Given the description of an element on the screen output the (x, y) to click on. 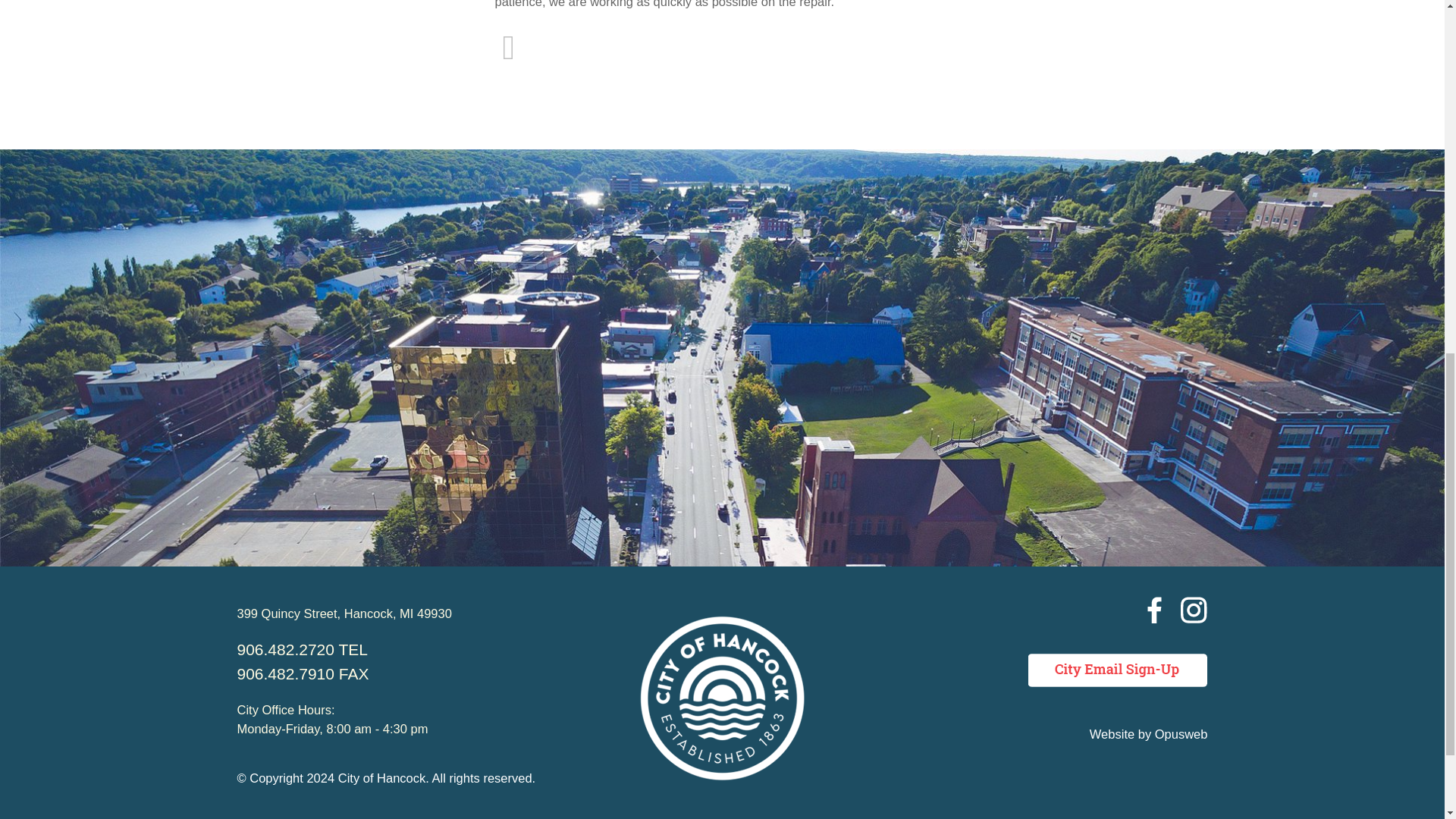
BACK (508, 54)
